Given the description of an element on the screen output the (x, y) to click on. 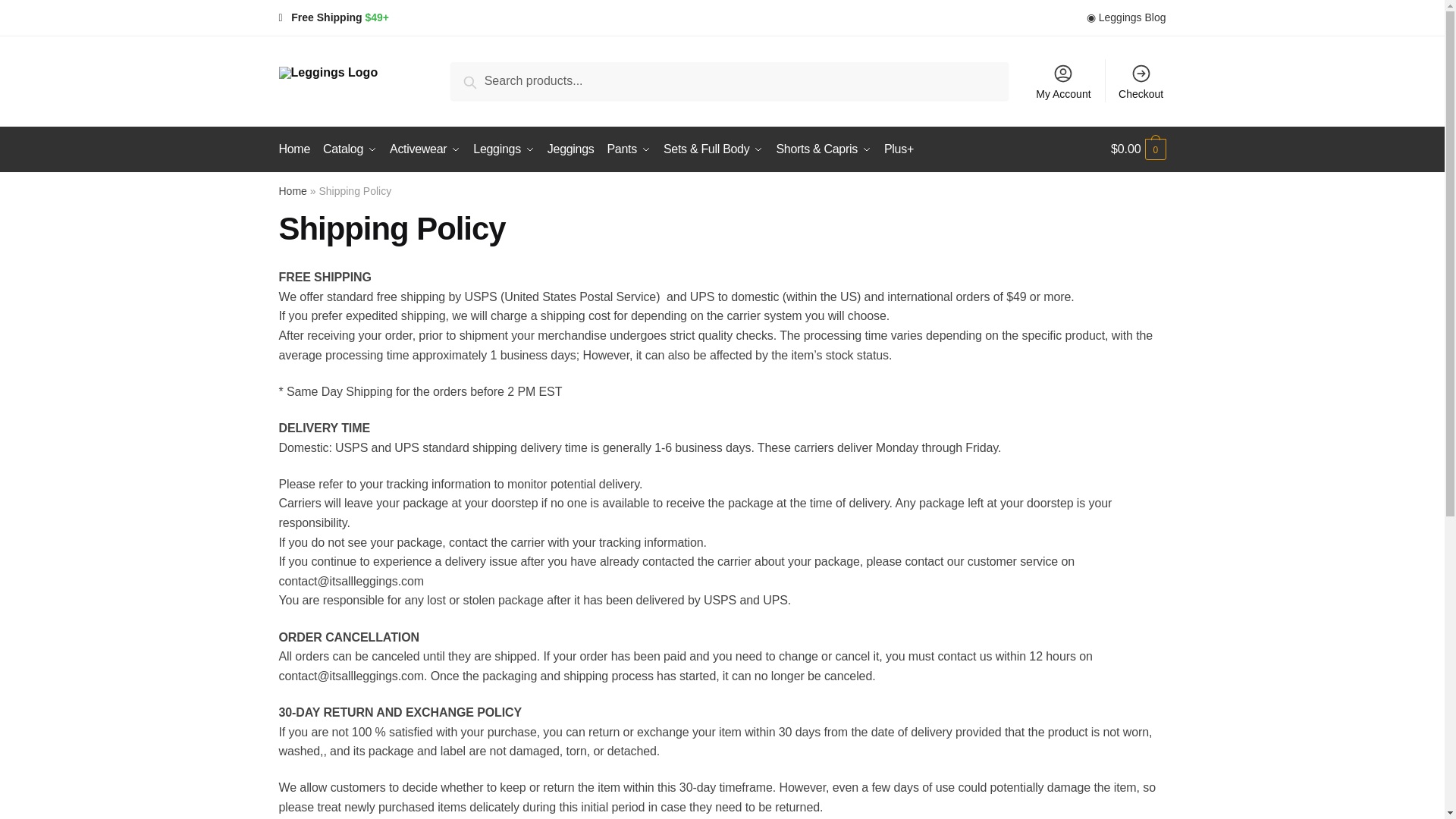
Best Leggings of 2022 (503, 148)
Denim Like Leggings (570, 148)
Leggings (503, 148)
Plus Size Clothing (898, 148)
Search (487, 79)
Catalog (349, 148)
Checkout (1141, 80)
Leggings Blog (1126, 17)
Activewear (424, 148)
My Account (1063, 80)
